Given the description of an element on the screen output the (x, y) to click on. 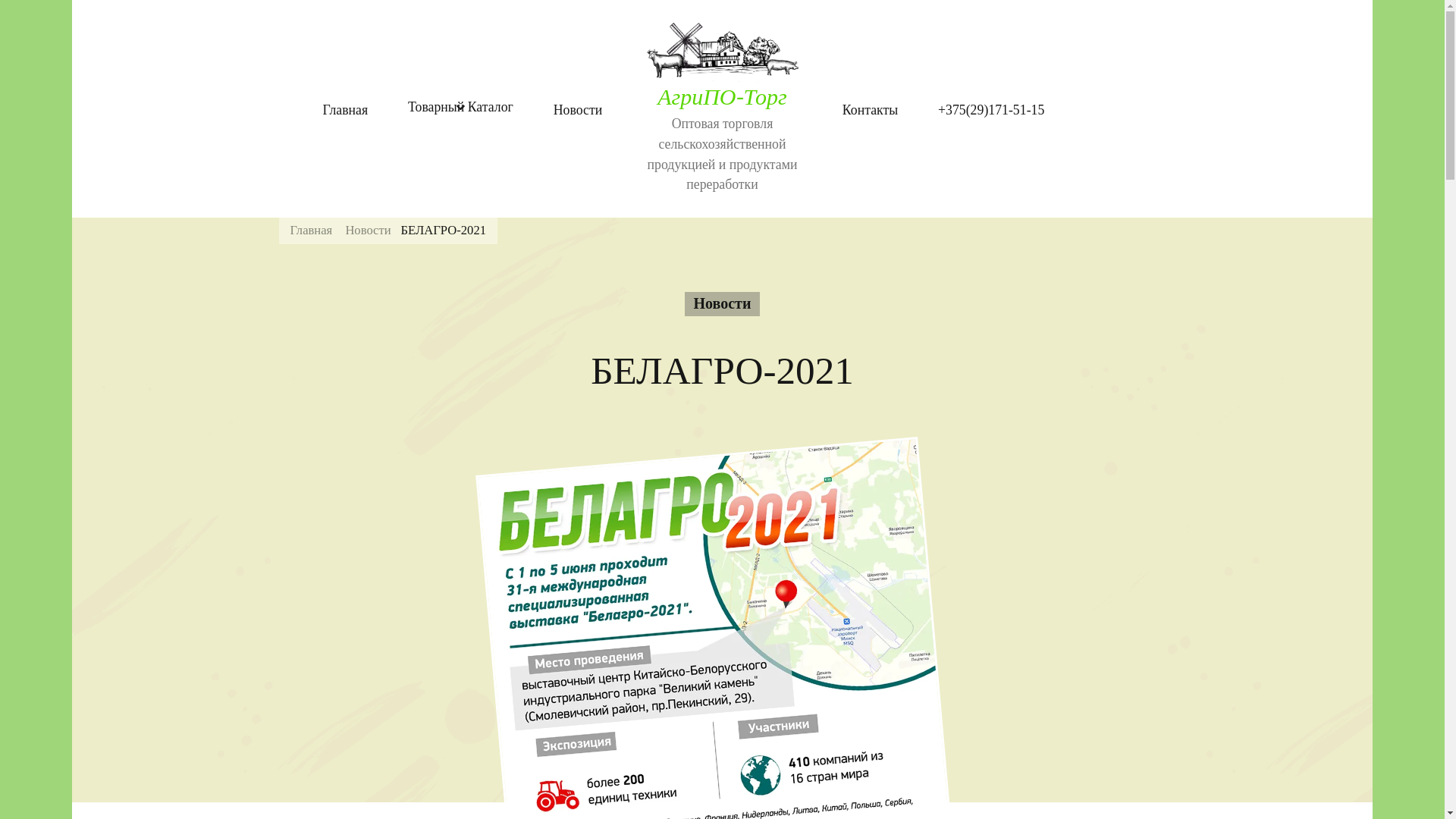
+375(29)171-51-15 Element type: text (990, 109)
